Given the description of an element on the screen output the (x, y) to click on. 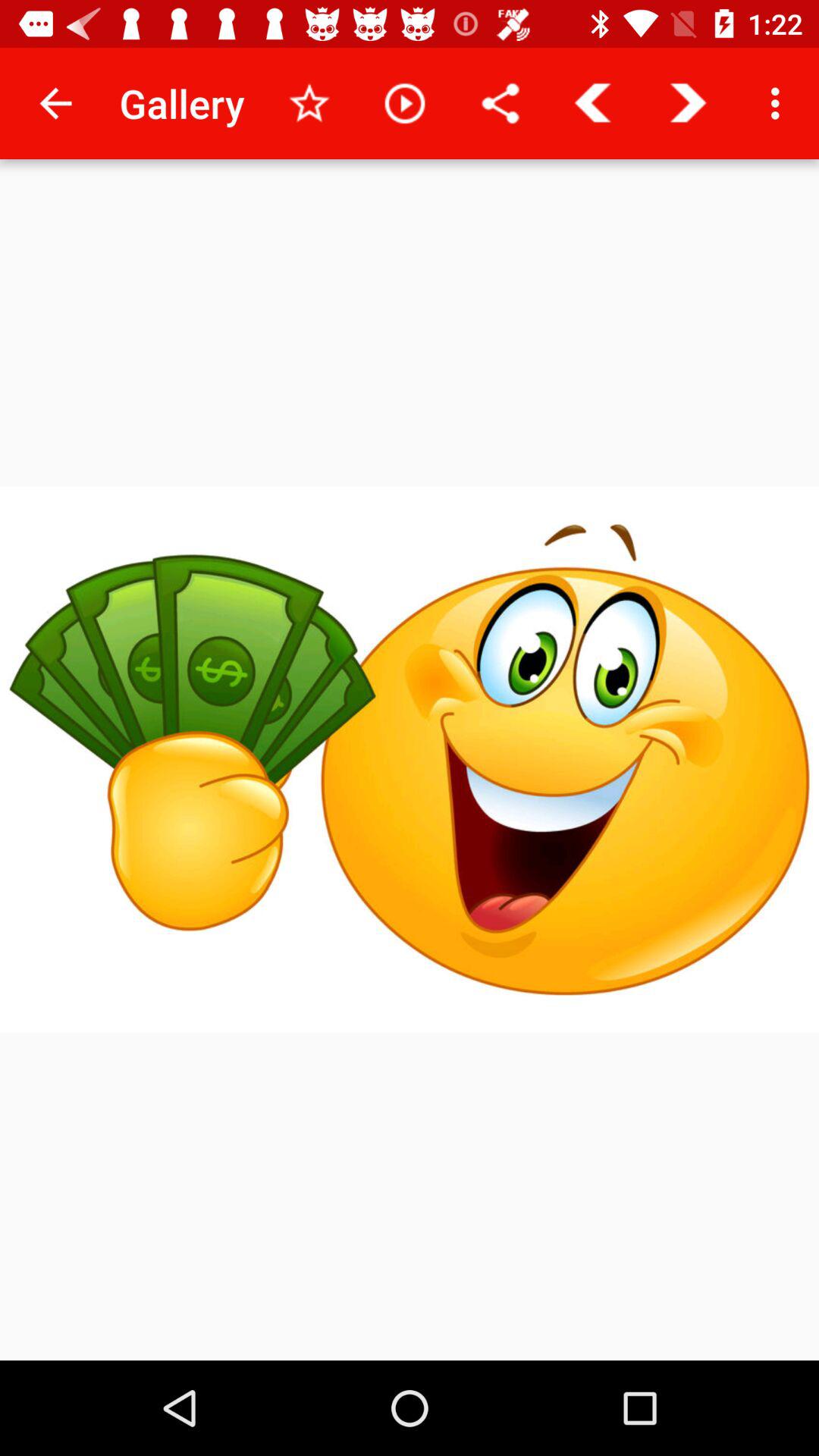
launch the app next to the gallery (55, 103)
